Given the description of an element on the screen output the (x, y) to click on. 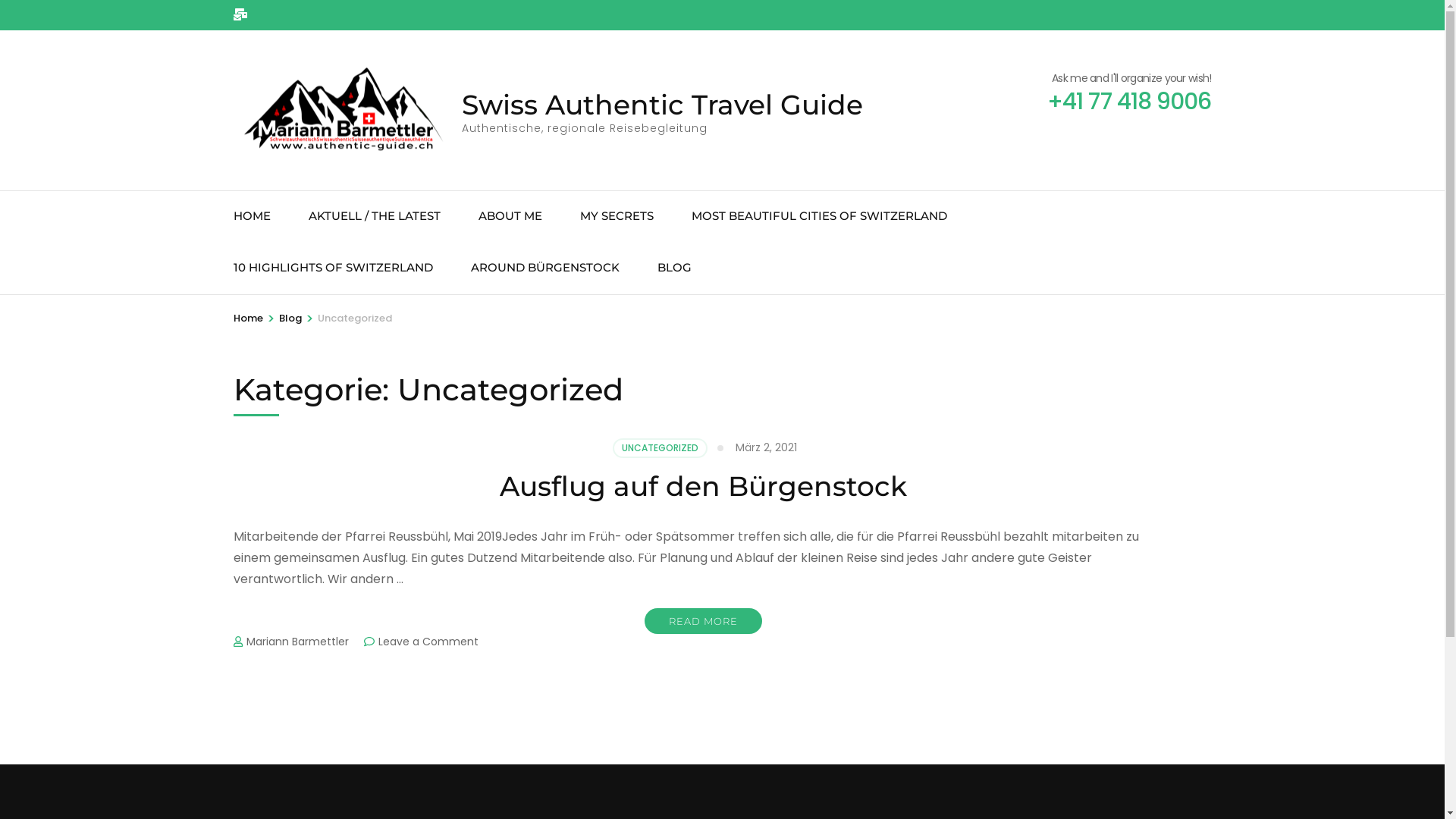
READ MORE Element type: text (703, 620)
MOST BEAUTIFUL CITIES OF SWITZERLAND Element type: text (819, 216)
Mariann Barmettler Element type: text (297, 641)
Home Element type: text (248, 318)
+41 77 418 9006 Element type: text (1129, 101)
MY SECRETS Element type: text (615, 216)
HOME Element type: text (251, 216)
Uncategorized Element type: text (353, 318)
Swiss Authentic Travel Guide Element type: text (661, 104)
BLOG Element type: text (673, 268)
UNCATEGORIZED Element type: text (659, 448)
10 HIGHLIGHTS OF SWITZERLAND Element type: text (333, 268)
ABOUT ME Element type: text (509, 216)
AKTUELL / THE LATEST Element type: text (373, 216)
Blog Element type: text (290, 318)
